Given the description of an element on the screen output the (x, y) to click on. 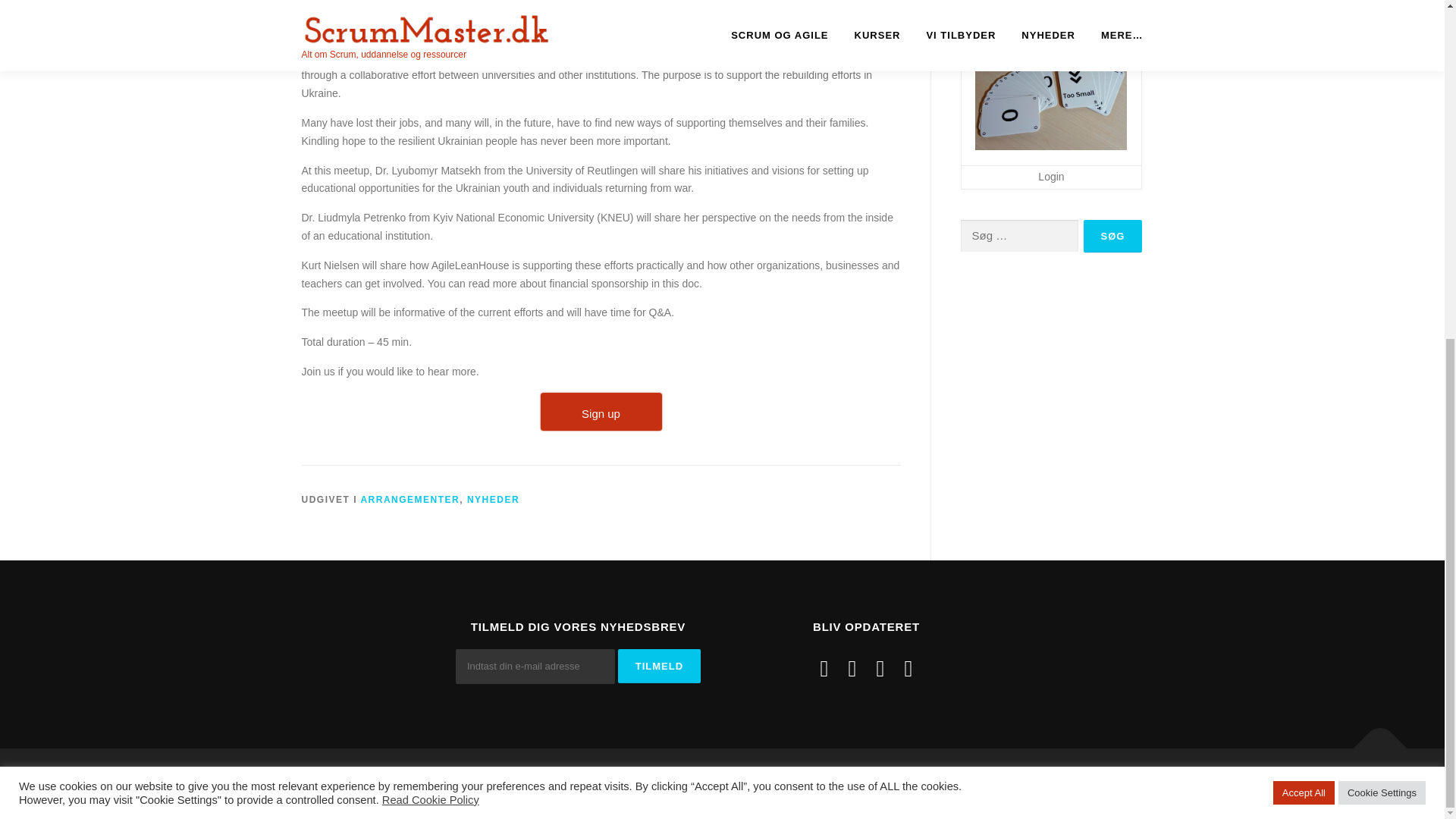
Tilbage til top (1372, 740)
BUY (600, 411)
Sign up (600, 411)
ARRANGEMENTER (409, 499)
NYHEDER (493, 499)
Tilmeld (658, 666)
